Given the description of an element on the screen output the (x, y) to click on. 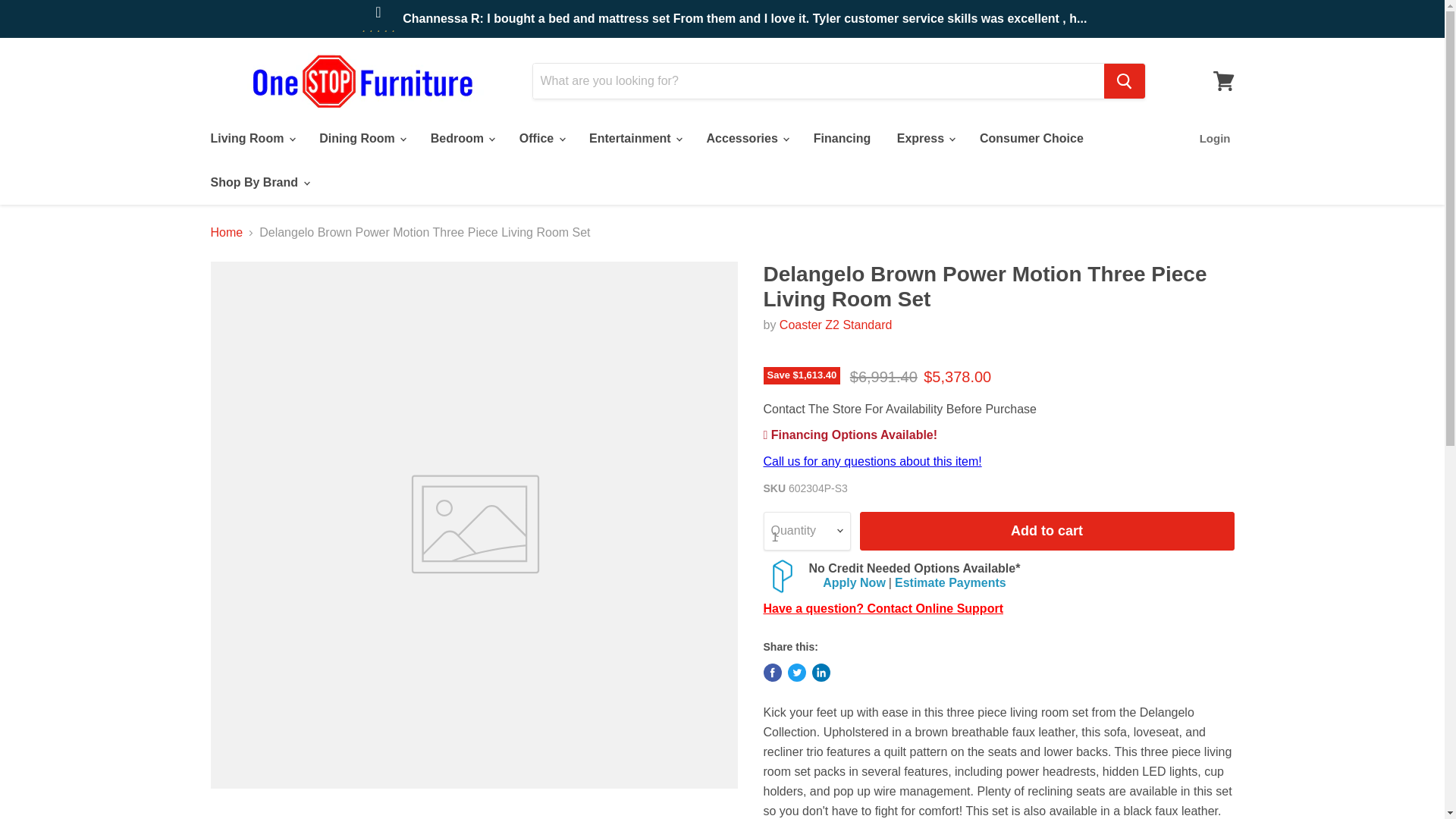
Dining Room (360, 138)
Coaster Z2 Standard (835, 324)
Bedroom (462, 138)
View cart (1223, 80)
Living Room (251, 138)
